Given the description of an element on the screen output the (x, y) to click on. 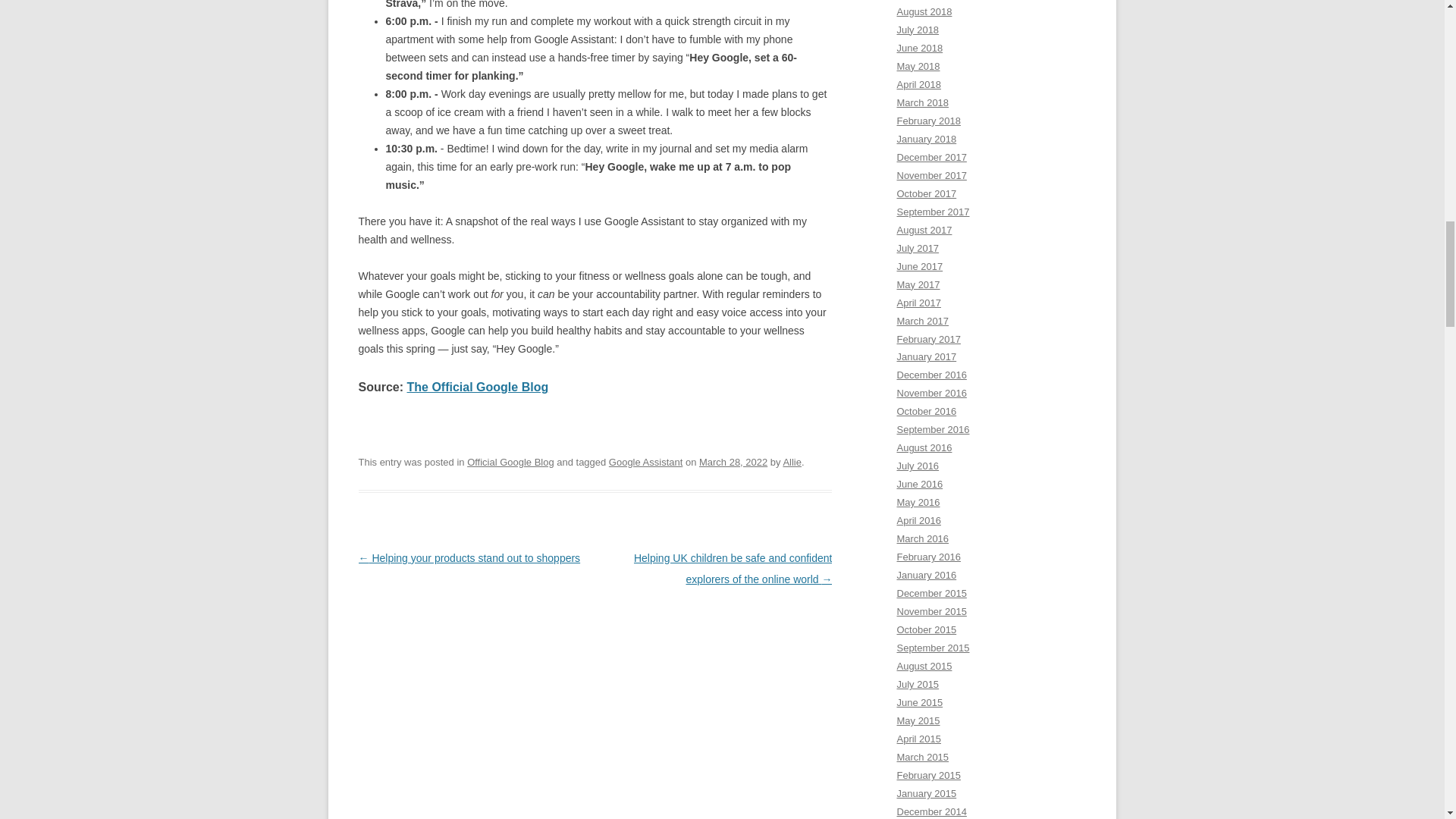
View all posts by Allie (792, 461)
Official Google Blog (510, 461)
Allie (792, 461)
March 28, 2022 (732, 461)
The Official Google Blog (477, 386)
3:00 pm (732, 461)
Google Assistant (645, 461)
